Given the description of an element on the screen output the (x, y) to click on. 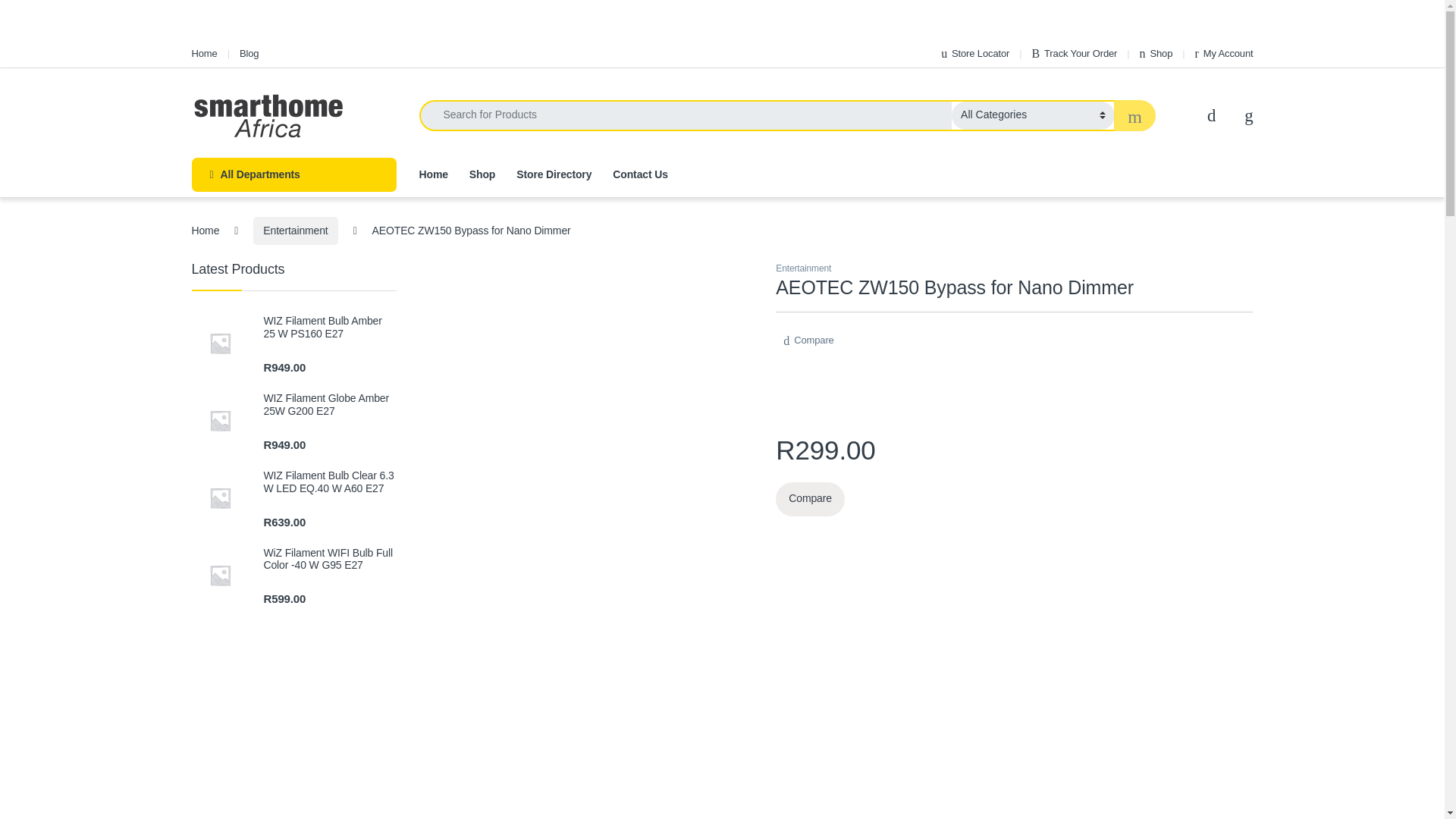
Home (203, 53)
My Account (1224, 53)
Store Locator (974, 53)
Track Your Order (1073, 53)
All Departments (293, 174)
Home (203, 53)
Track Your Order (1073, 53)
Shop (1156, 53)
Shop (1156, 53)
Store Locator (974, 53)
